Given the description of an element on the screen output the (x, y) to click on. 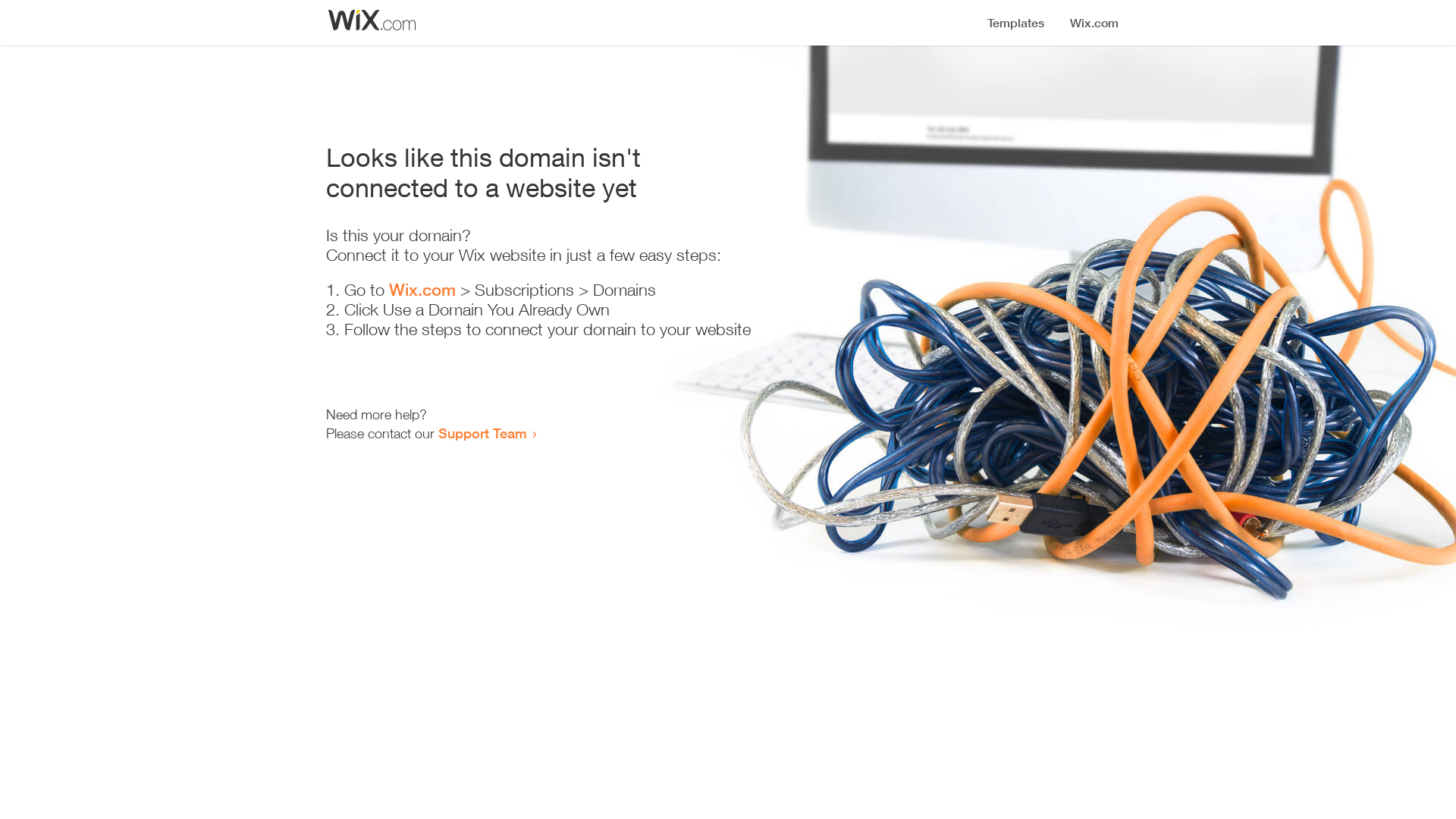
Wix.com Element type: text (422, 289)
Support Team Element type: text (482, 432)
